Given the description of an element on the screen output the (x, y) to click on. 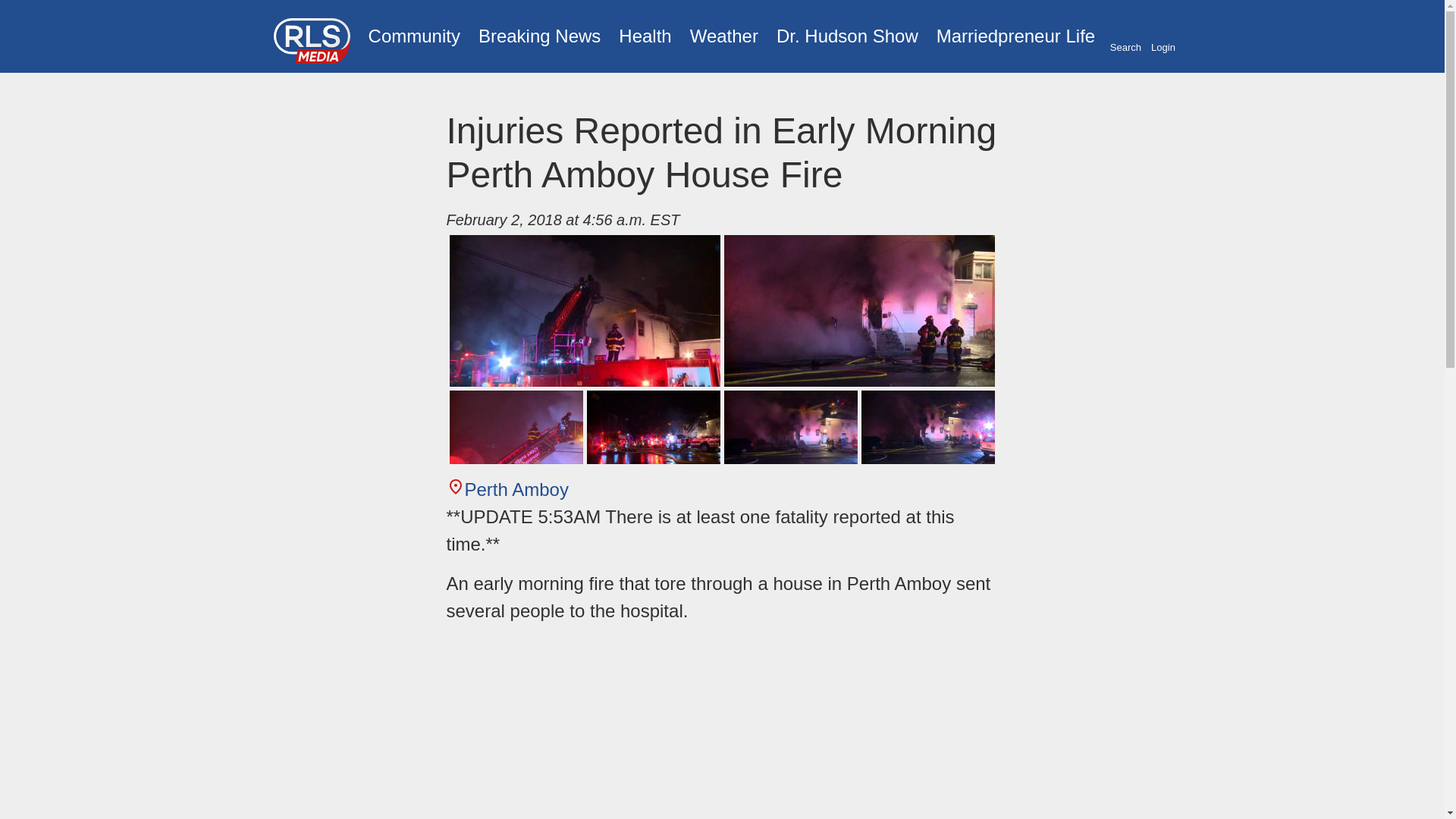
Community News (413, 36)
Advertisement (721, 728)
Health (644, 36)
Flying on Broken Dreams (847, 36)
Community (413, 36)
Search (1125, 37)
Marriedpreneur Life (1015, 36)
Dr. Hudson Show (847, 36)
Login (1163, 37)
Health News (644, 36)
Local Weather (724, 36)
Weather (724, 36)
Perth Amboy (506, 489)
Breaking News (539, 36)
